Given the description of an element on the screen output the (x, y) to click on. 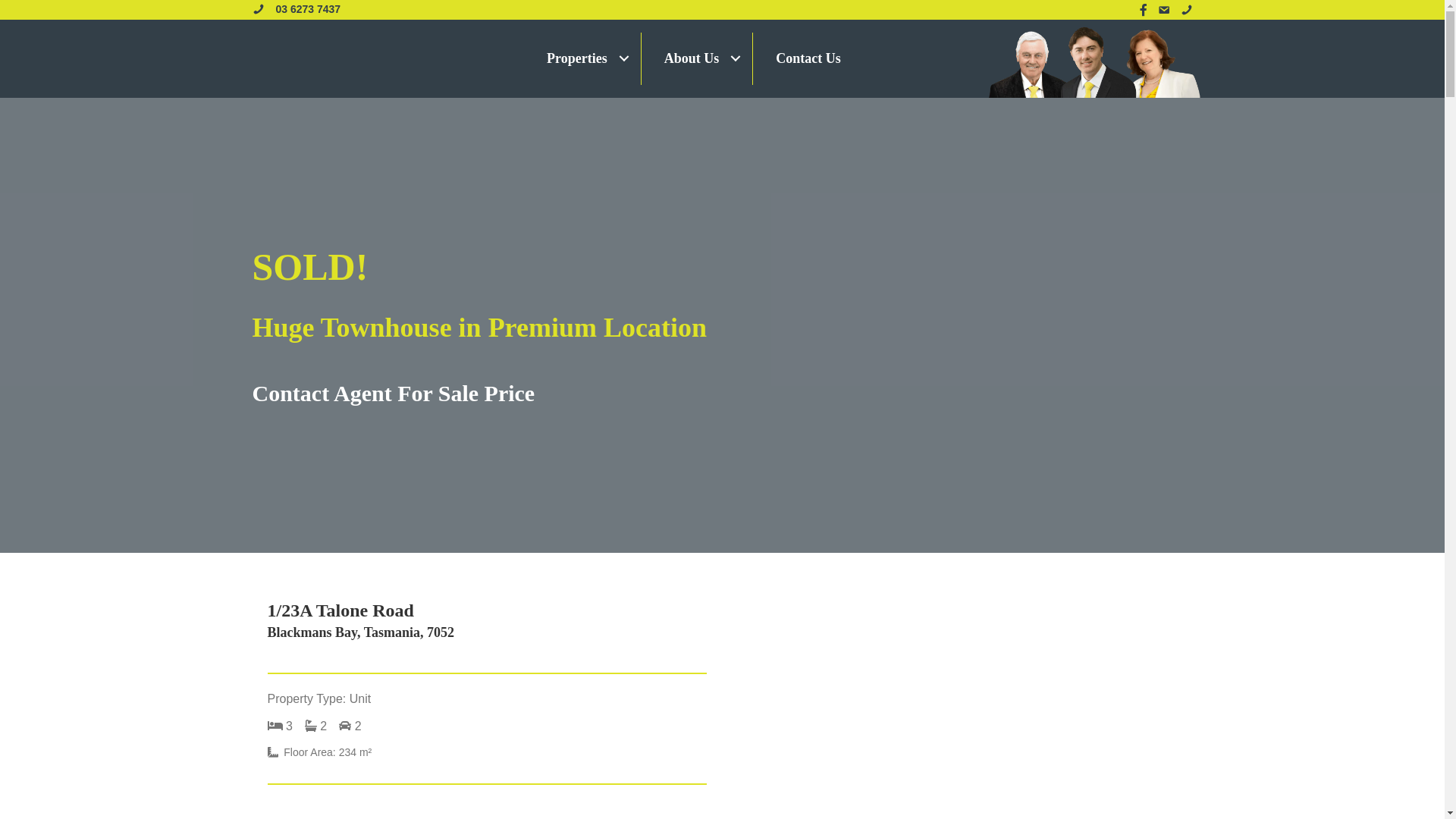
moanes crop6 Element type: hover (1094, 60)
03 6273 7437 Element type: text (308, 8)
Contact Us Element type: text (808, 58)
About Us Element type: text (697, 58)
Properties Element type: text (582, 58)
